Given the description of an element on the screen output the (x, y) to click on. 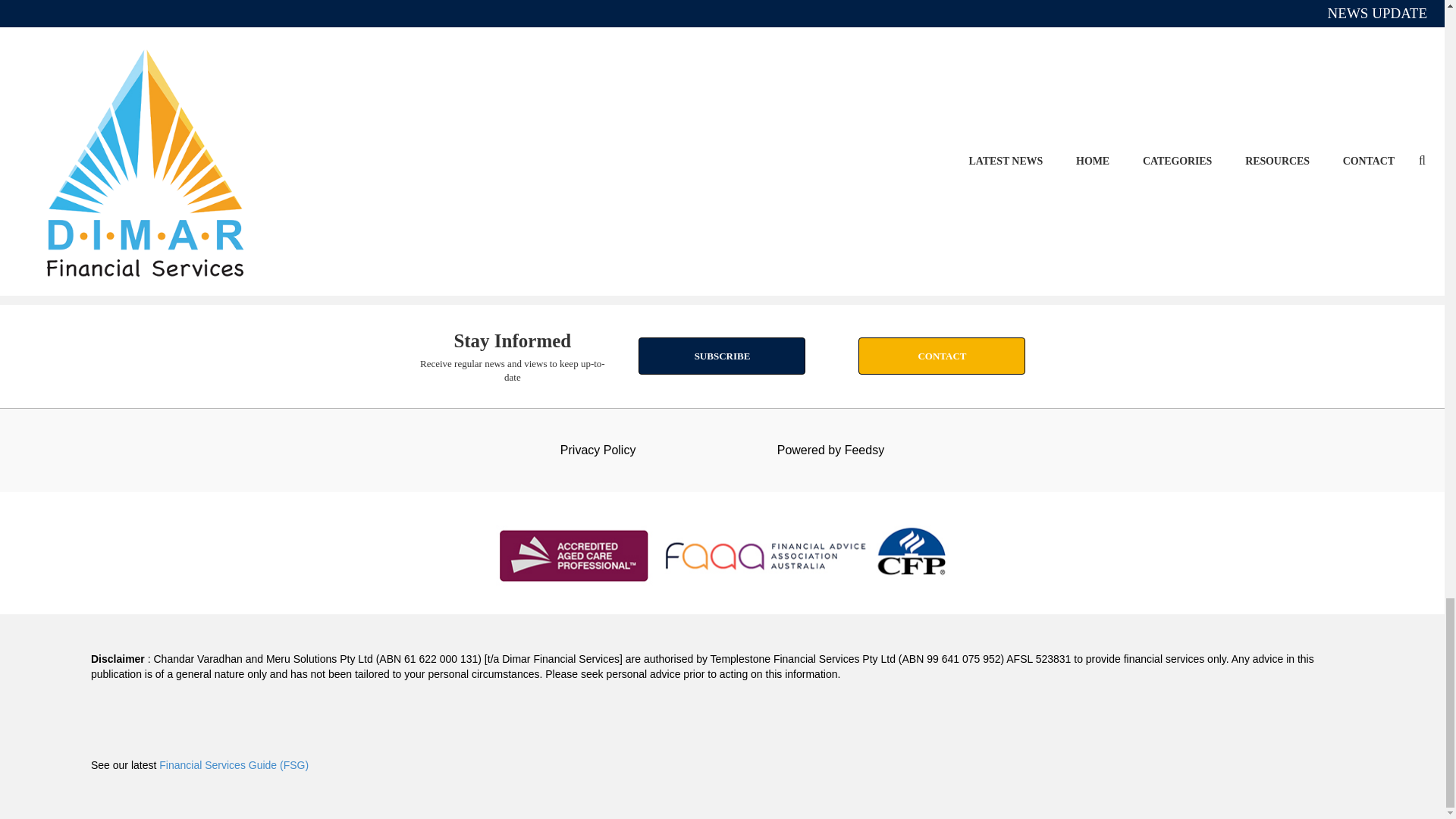
NEXT (758, 131)
ALL RECENT (722, 264)
PREV (685, 131)
SUBSCRIBE (721, 355)
